Given the description of an element on the screen output the (x, y) to click on. 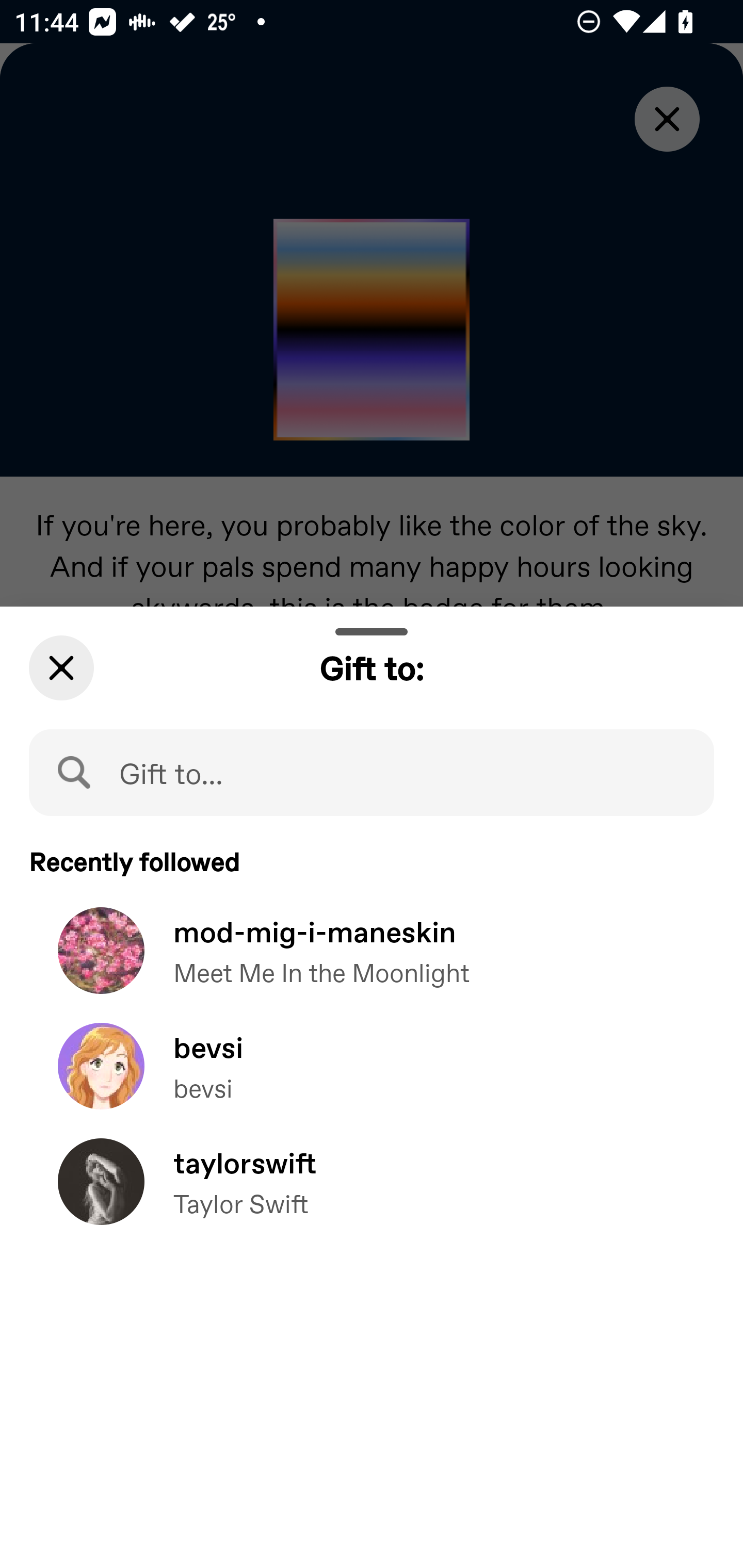
Gift to... (371, 772)
mod-mig-i-maneskin Meet Me In the Moonlight (371, 964)
bevsi (371, 1080)
taylorswift Taylor Swift (371, 1196)
